Given the description of an element on the screen output the (x, y) to click on. 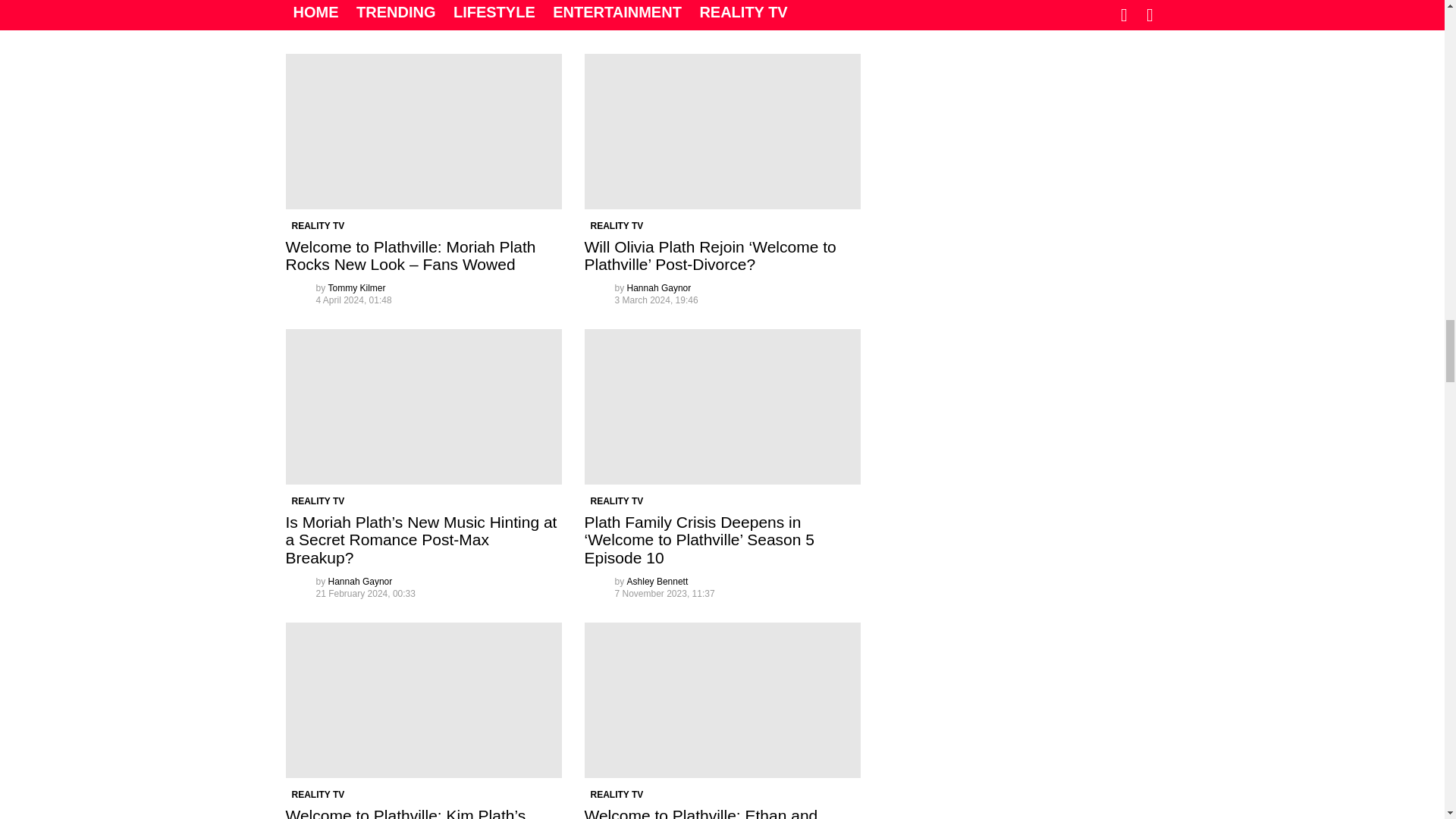
Tommy Kilmer (357, 287)
Posts by Tommy Kilmer (357, 287)
Christine Cohan (660, 12)
Posts by Ashley Bennett (359, 12)
REALITY TV (317, 225)
Posts by Christine Cohan (660, 12)
Ashley Bennett (359, 12)
Posts by Hannah Gaynor (659, 287)
